Given the description of an element on the screen output the (x, y) to click on. 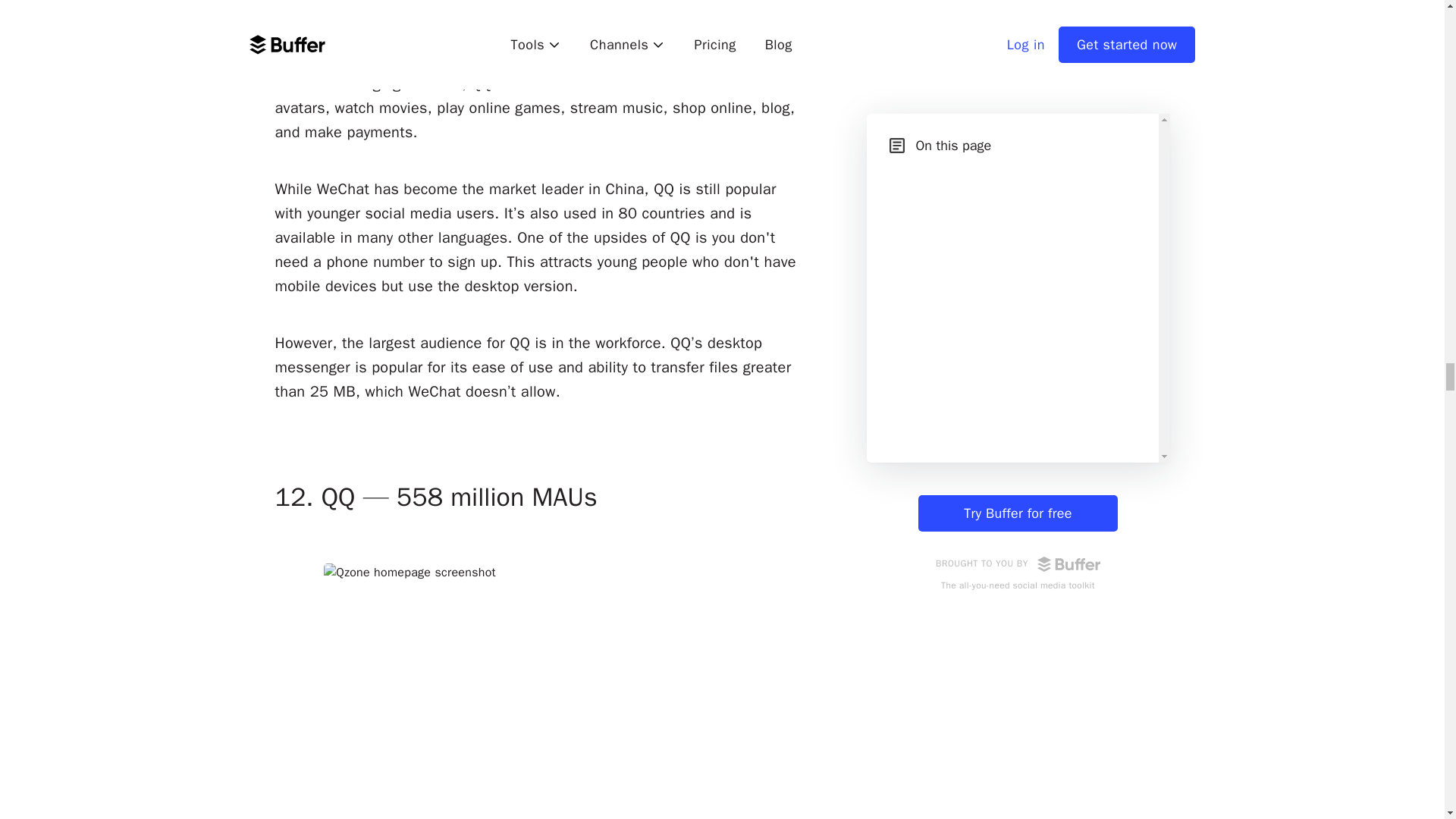
Qzone homepage screenshot (537, 685)
